Given the description of an element on the screen output the (x, y) to click on. 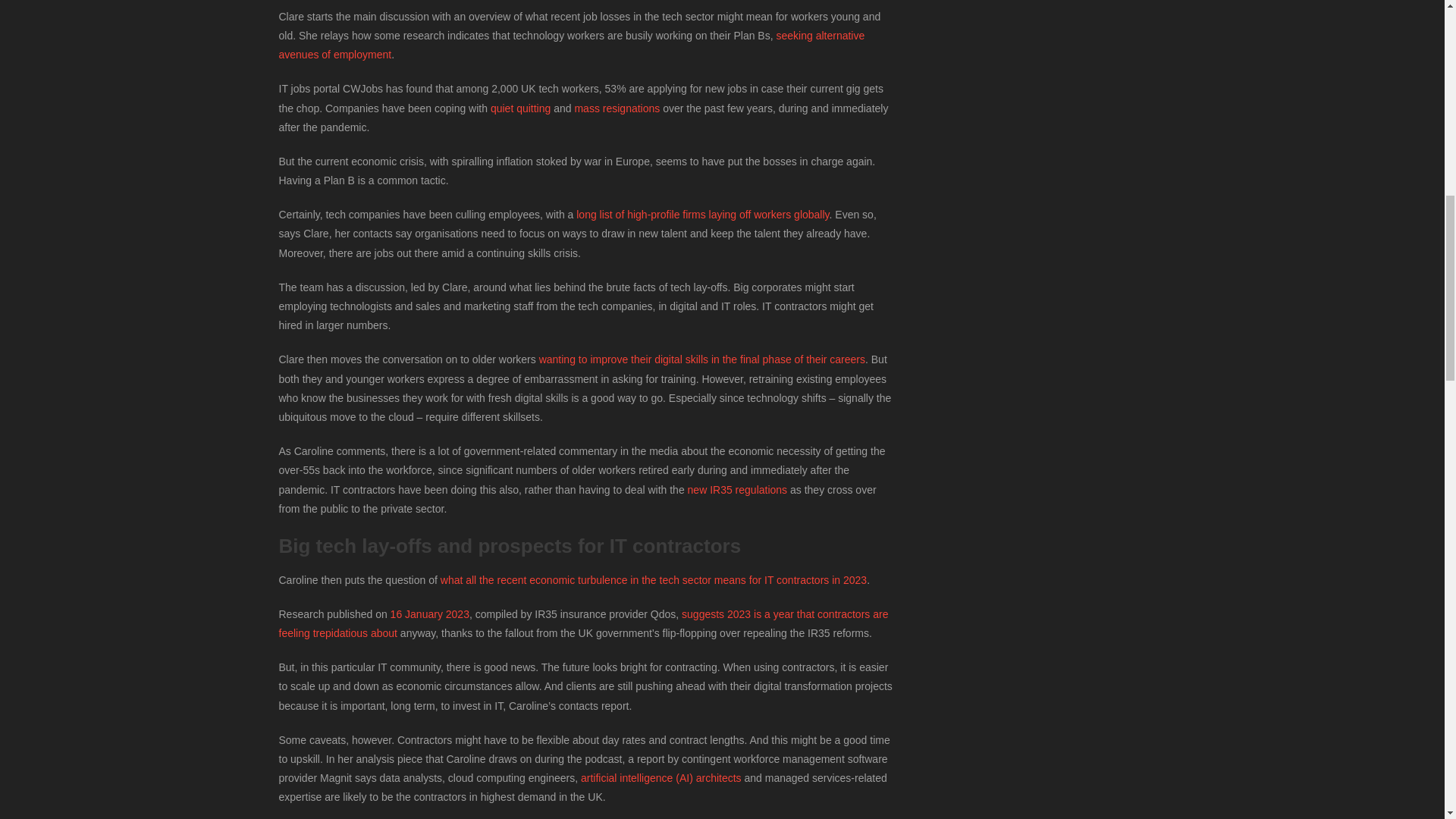
quiet quitting (520, 107)
16 January 2023 (429, 613)
mass resignations (616, 107)
seeking alternative avenues of employment (571, 44)
new IR35 regulations (737, 490)
long list of high-profile firms laying off workers globally (702, 214)
